Given the description of an element on the screen output the (x, y) to click on. 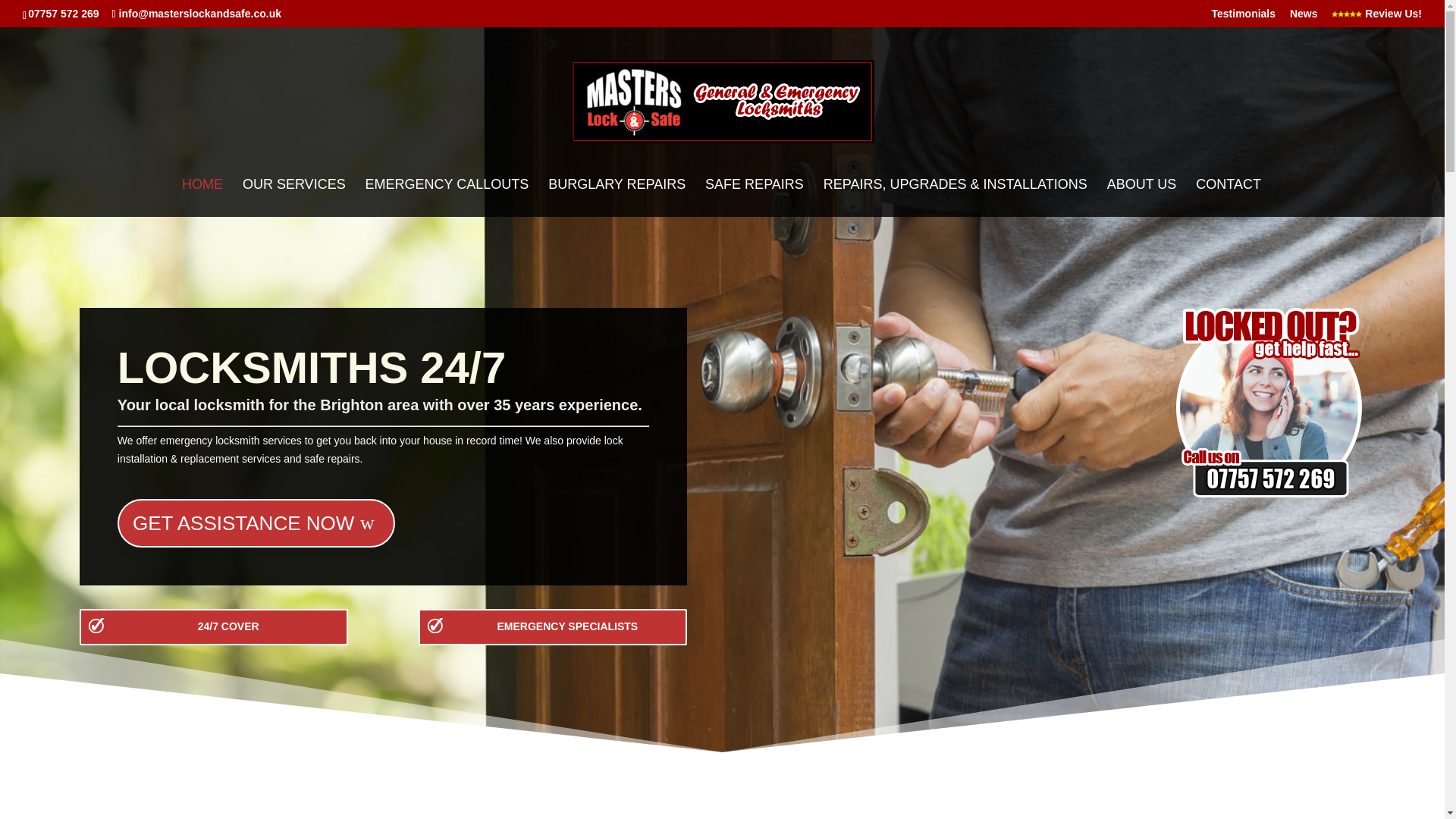
CONTACT (1227, 198)
SAFE REPAIRS (753, 198)
HOME (202, 198)
GET ASSISTANCE NOW (256, 522)
BURGLARY REPAIRS (616, 198)
Emergency locksmiths in Brighton (1269, 402)
News (1303, 16)
Testimonials (1243, 16)
EMERGENCY CALLOUTS (447, 198)
OUR SERVICES (294, 198)
ABOUT US (1141, 198)
Review Us! (1377, 16)
